Given the description of an element on the screen output the (x, y) to click on. 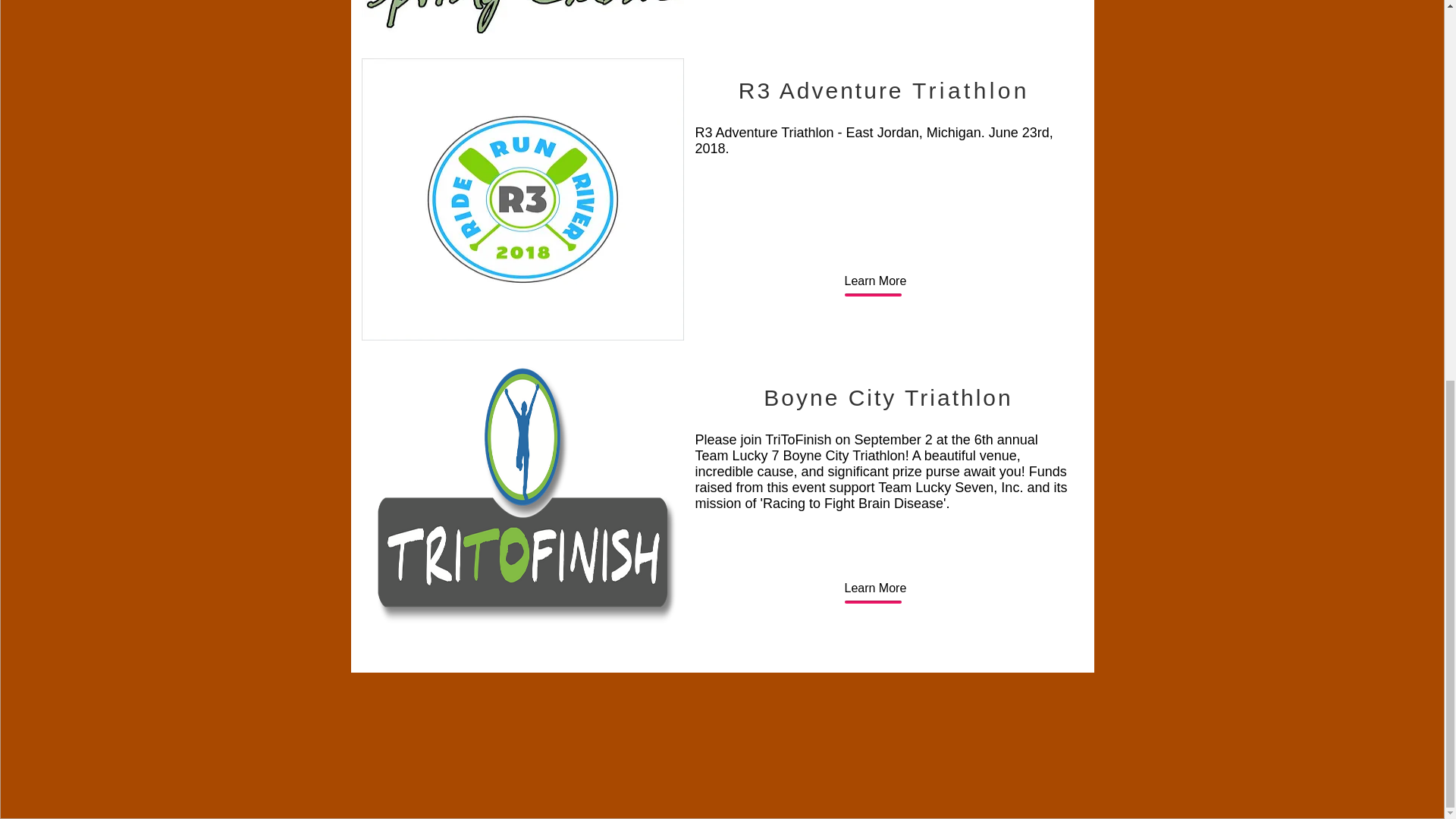
Learn More (875, 588)
Learn More (875, 281)
